Given the description of an element on the screen output the (x, y) to click on. 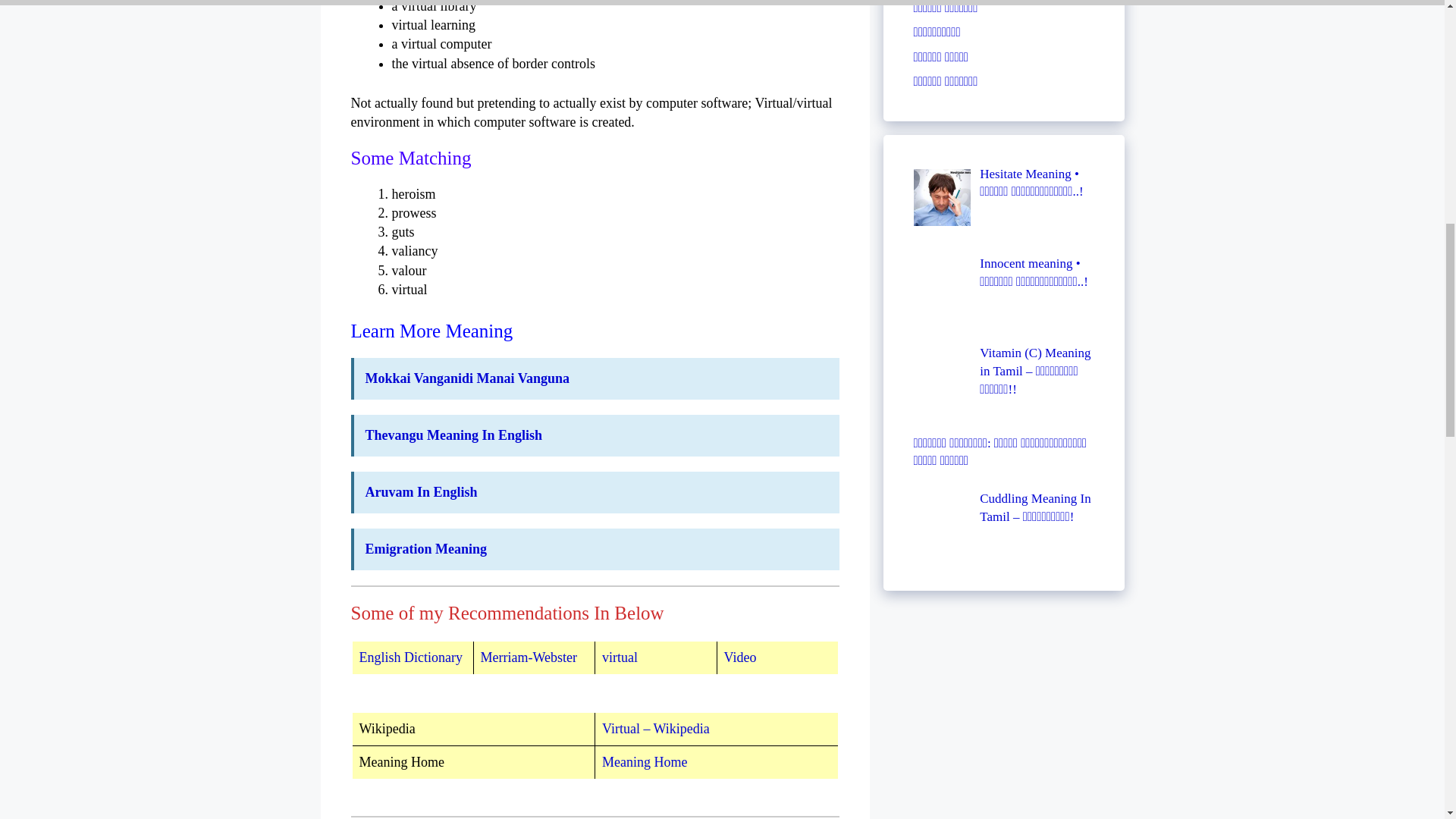
Mokkai Vanganidi Manai Vanguna (467, 378)
English Dictionary (411, 657)
virtual (619, 657)
Video (739, 657)
Merriam-Webster (529, 657)
Thevangu Meaning In English (454, 435)
Meaning Home (644, 761)
Aruvam In English (421, 491)
Emigration Meaning (426, 548)
